Given the description of an element on the screen output the (x, y) to click on. 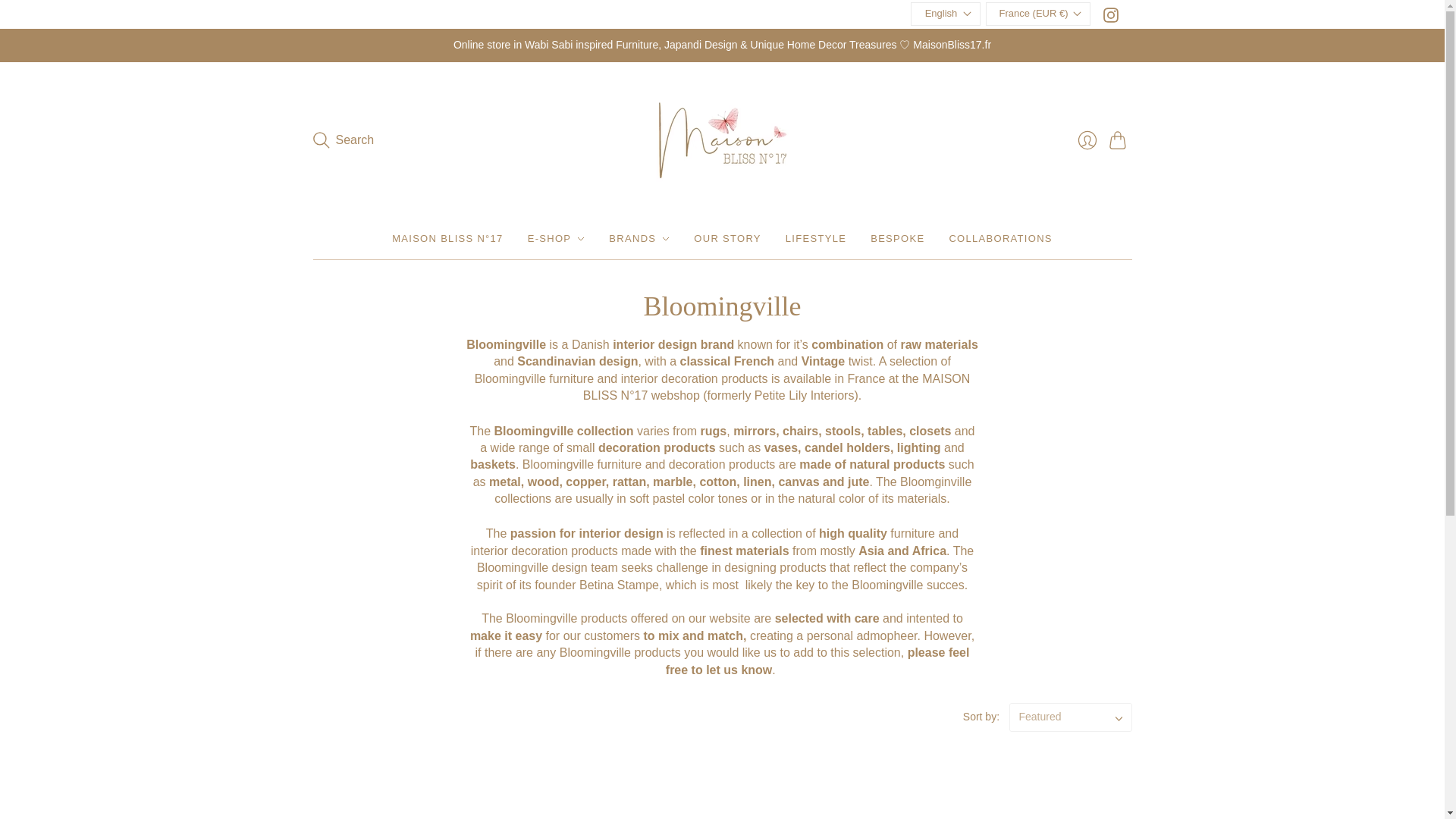
Search (342, 140)
Cart (1119, 140)
English (944, 13)
Login (1086, 140)
